Given the description of an element on the screen output the (x, y) to click on. 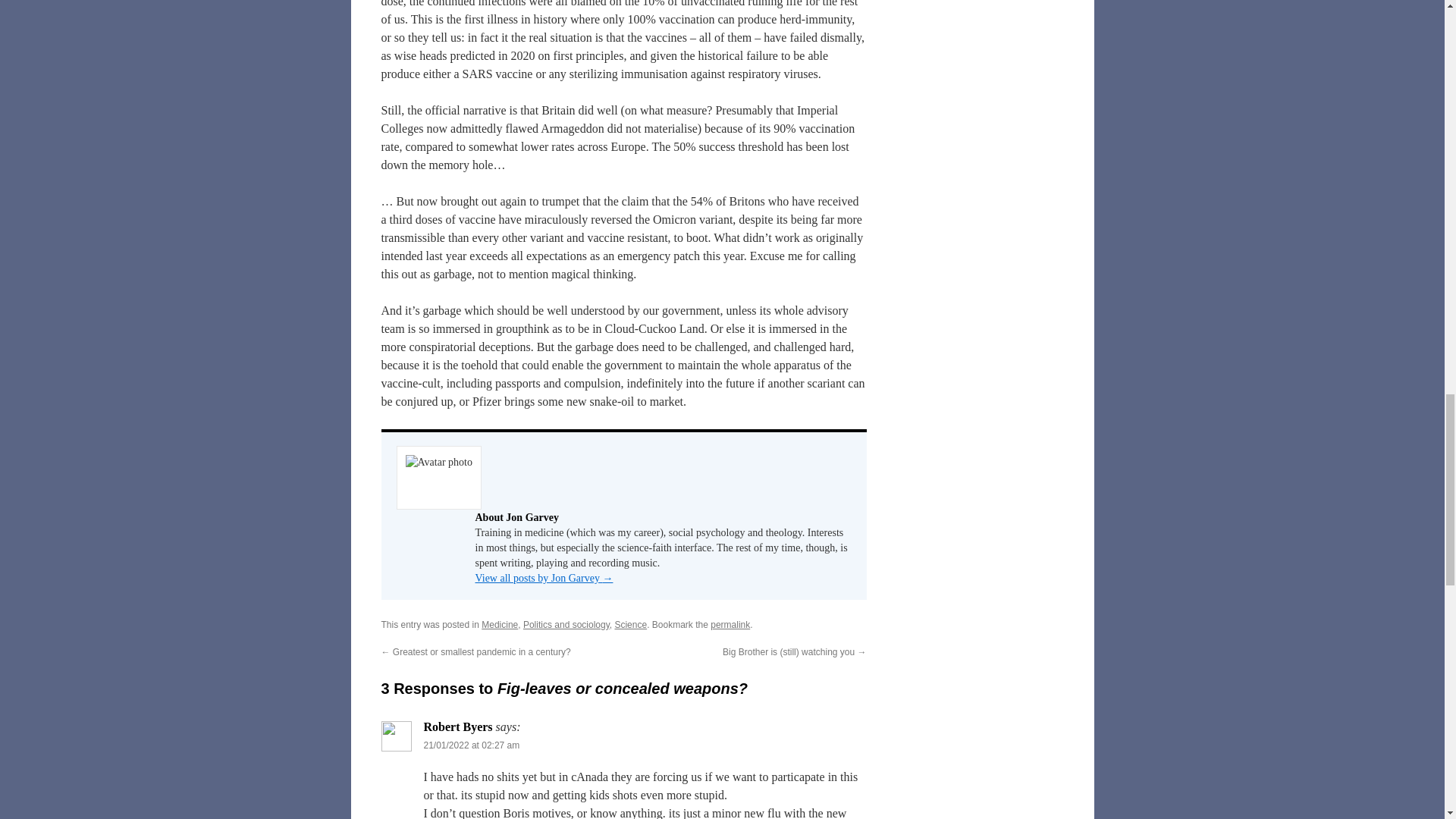
Permalink to Fig-leaves or concealed weapons? (729, 624)
Politics and sociology (566, 624)
permalink (729, 624)
Medicine (499, 624)
Science (630, 624)
